Given the description of an element on the screen output the (x, y) to click on. 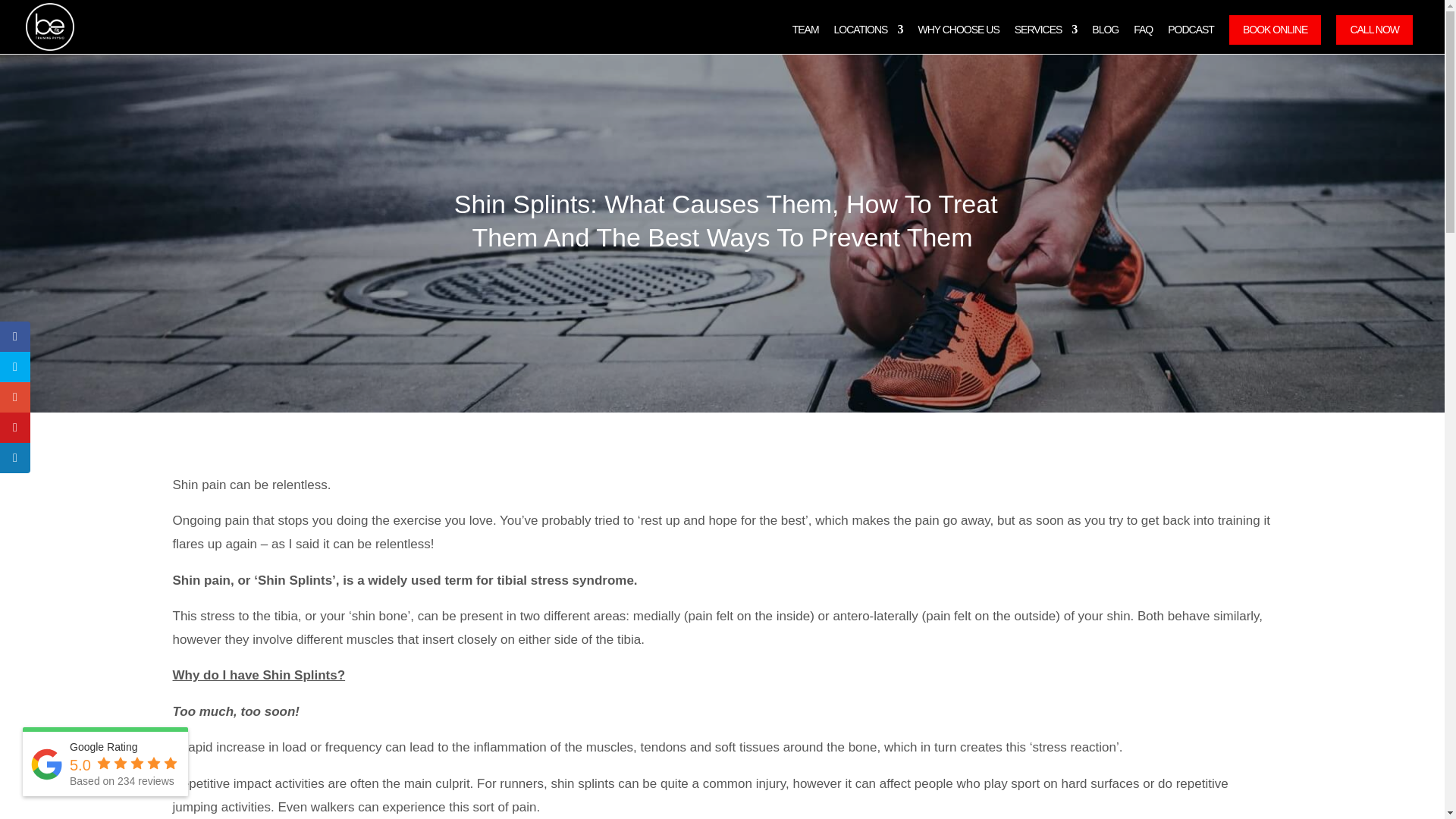
TEAM (805, 39)
SERVICES (1045, 39)
CALL NOW (1374, 30)
LOCATIONS (868, 39)
WHY CHOOSE US (957, 39)
PODCAST (1190, 39)
BOOK ONLINE (1274, 30)
BLOG (1105, 39)
